Given the description of an element on the screen output the (x, y) to click on. 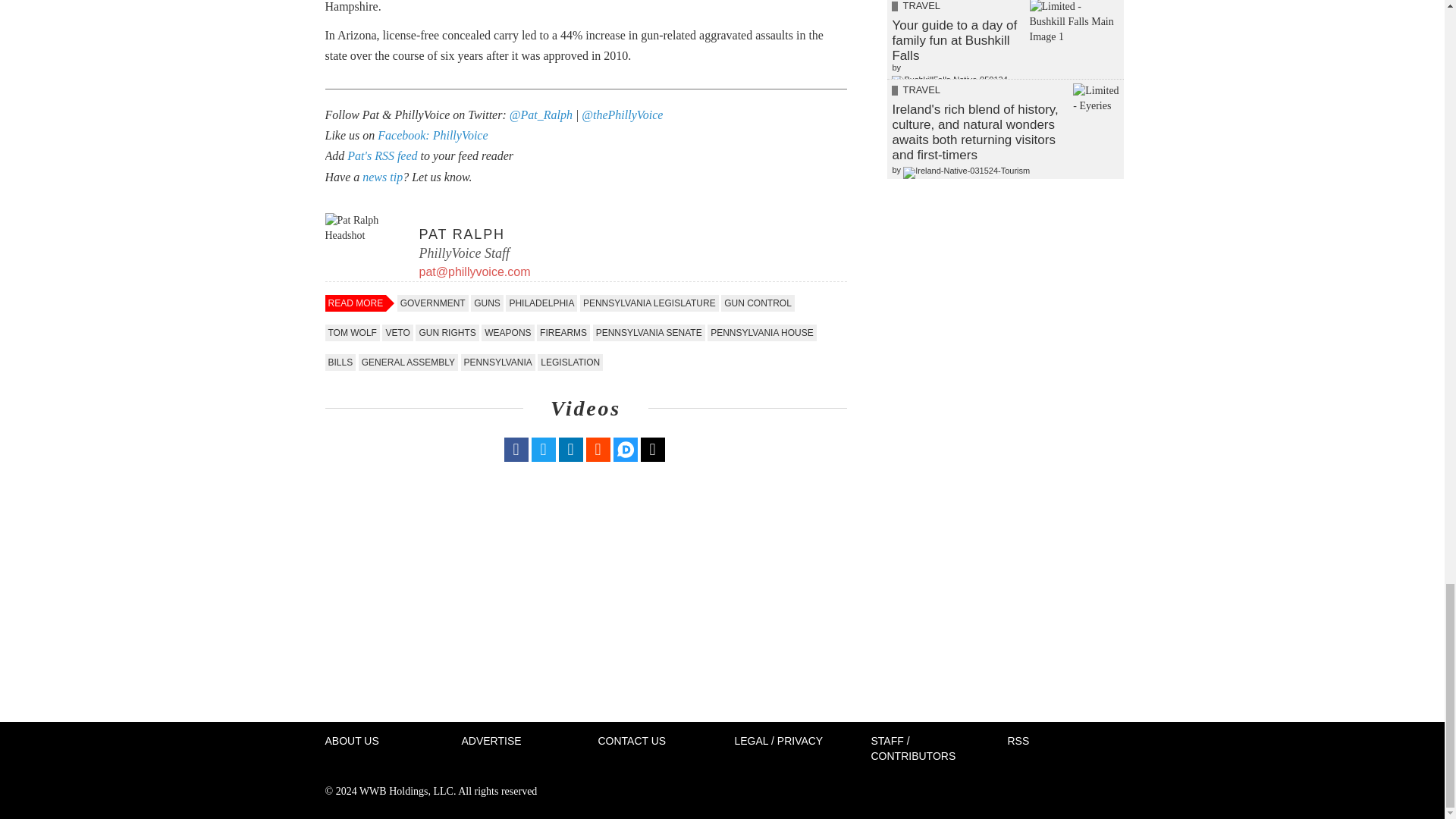
Email (651, 449)
Reddit (597, 449)
Facebook (515, 449)
Twitter (542, 449)
LinkedIn (569, 449)
